Given the description of an element on the screen output the (x, y) to click on. 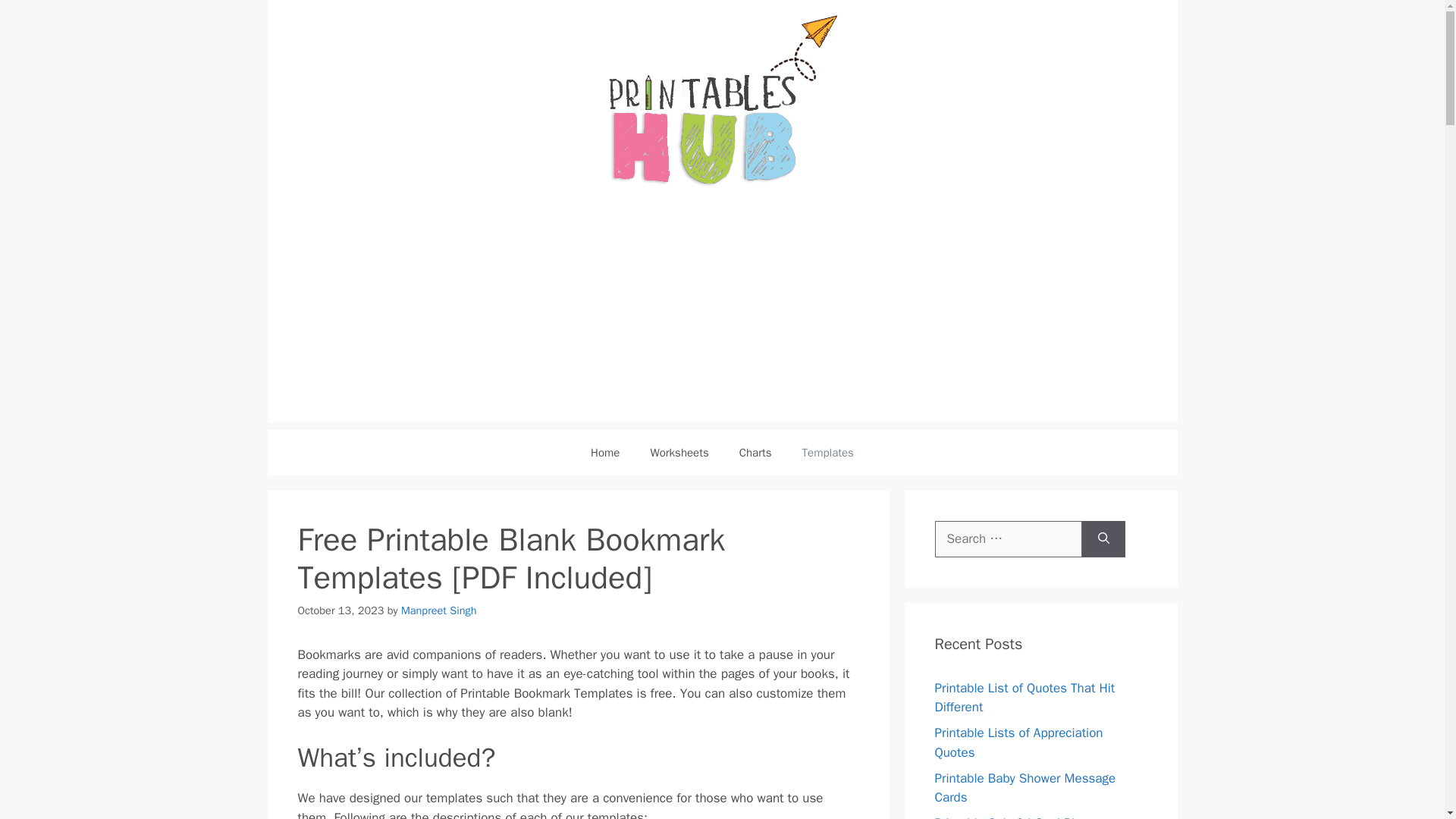
Printable List of Quotes That Hit Different (1024, 696)
Templates (828, 452)
Worksheets (678, 452)
Printable Colorful Goal Planner Bundle PDF (1019, 816)
View all posts by Manpreet Singh (438, 610)
Search for: (1007, 538)
Charts (755, 452)
Manpreet Singh (438, 610)
Home (604, 452)
Printable Lists of Appreciation Quotes (1018, 742)
Printable Baby Shower Message Cards (1024, 787)
